Given the description of an element on the screen output the (x, y) to click on. 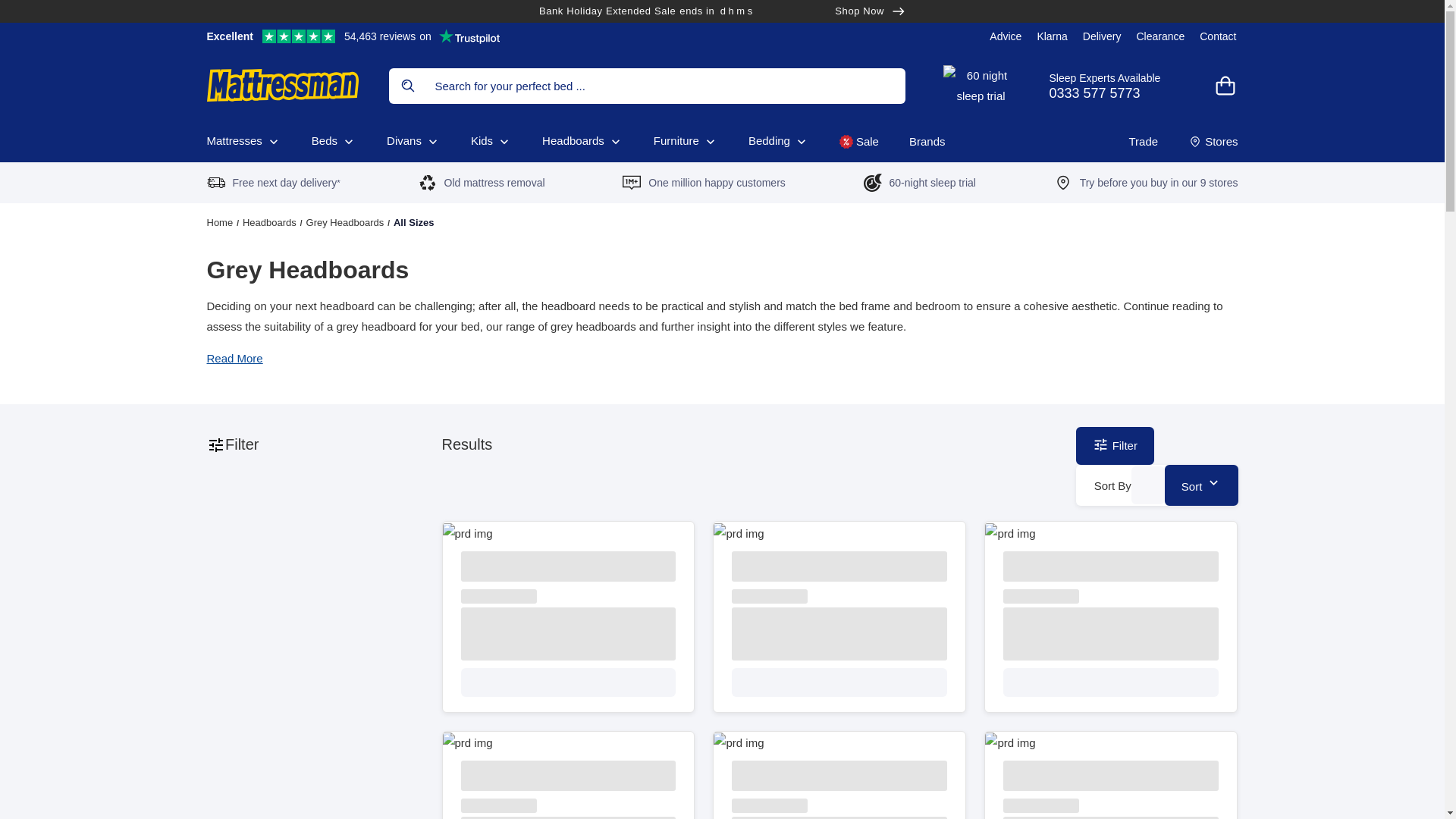
Delivery (1102, 36)
Klarna (352, 36)
Advice (1051, 36)
Clearance (721, 11)
Mattresses (1115, 85)
Contact (1006, 36)
